Given the description of an element on the screen output the (x, y) to click on. 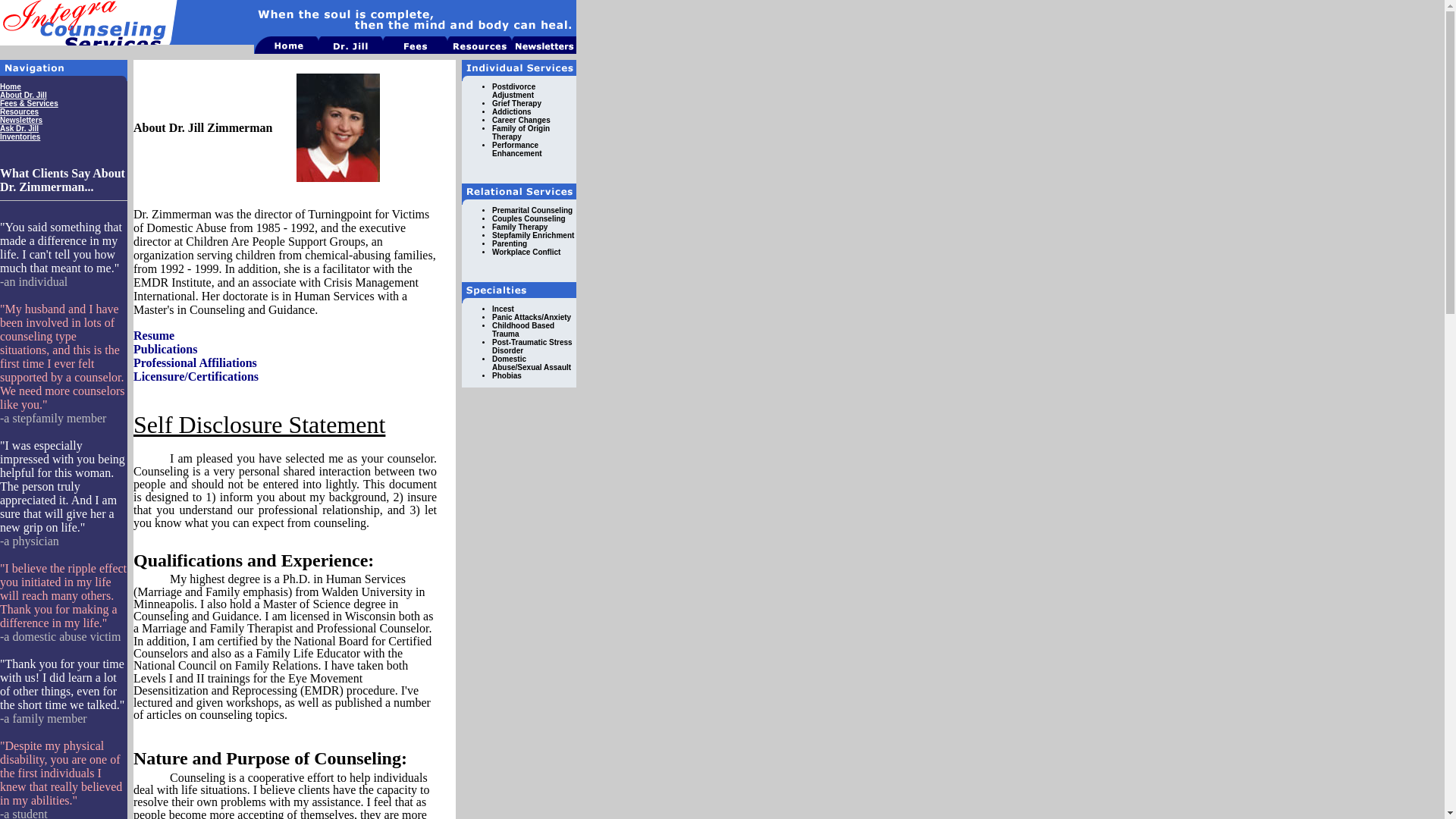
Newsletters (21, 120)
About Dr. Jill (23, 94)
Publications (164, 349)
Home (10, 86)
Resume (153, 335)
Ask Dr. Jill (19, 128)
Home (10, 86)
Resources (19, 111)
Inventories (20, 136)
Professional Affiliations (195, 362)
